Given the description of an element on the screen output the (x, y) to click on. 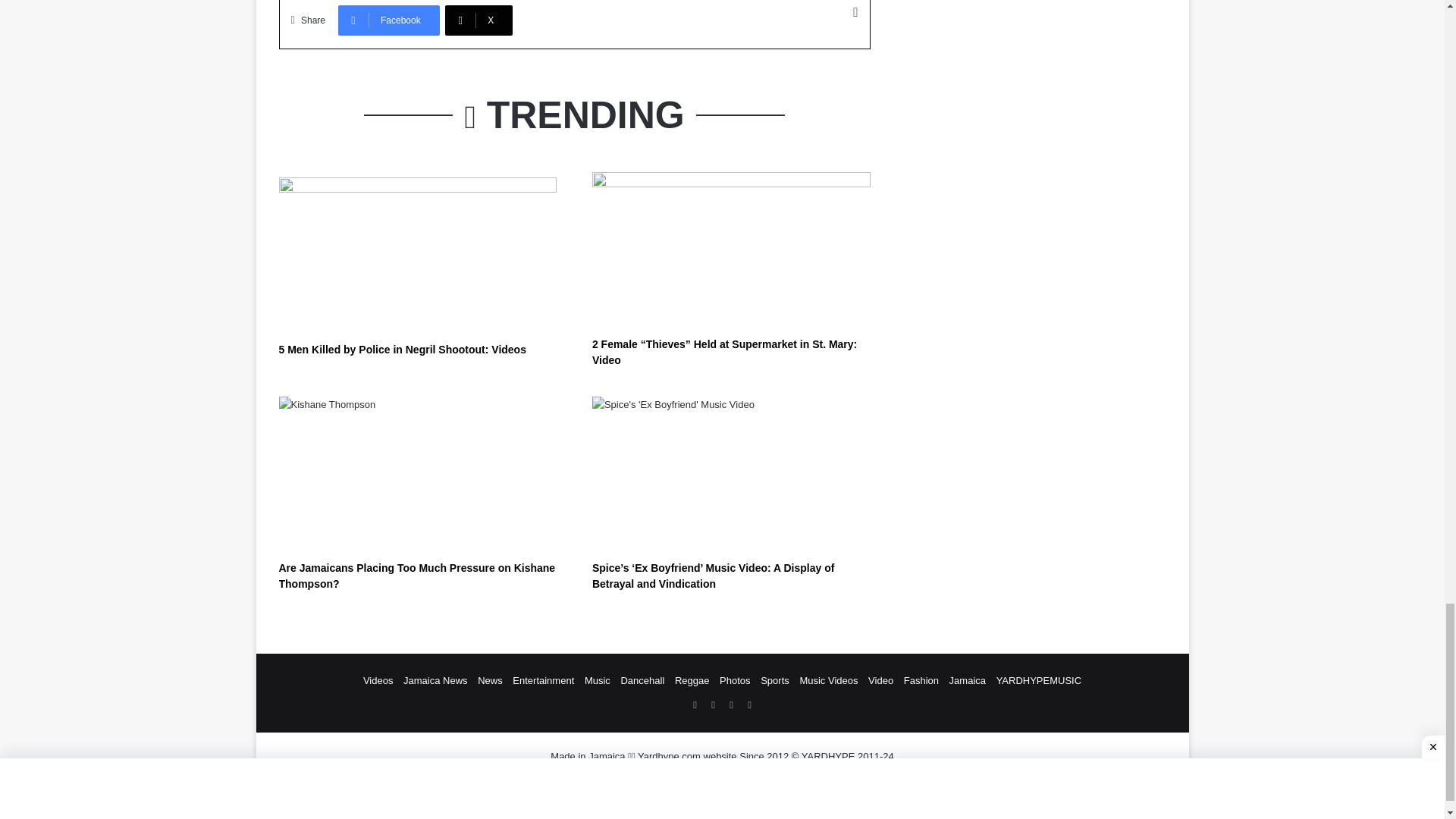
Facebook (388, 20)
X (478, 20)
